Given the description of an element on the screen output the (x, y) to click on. 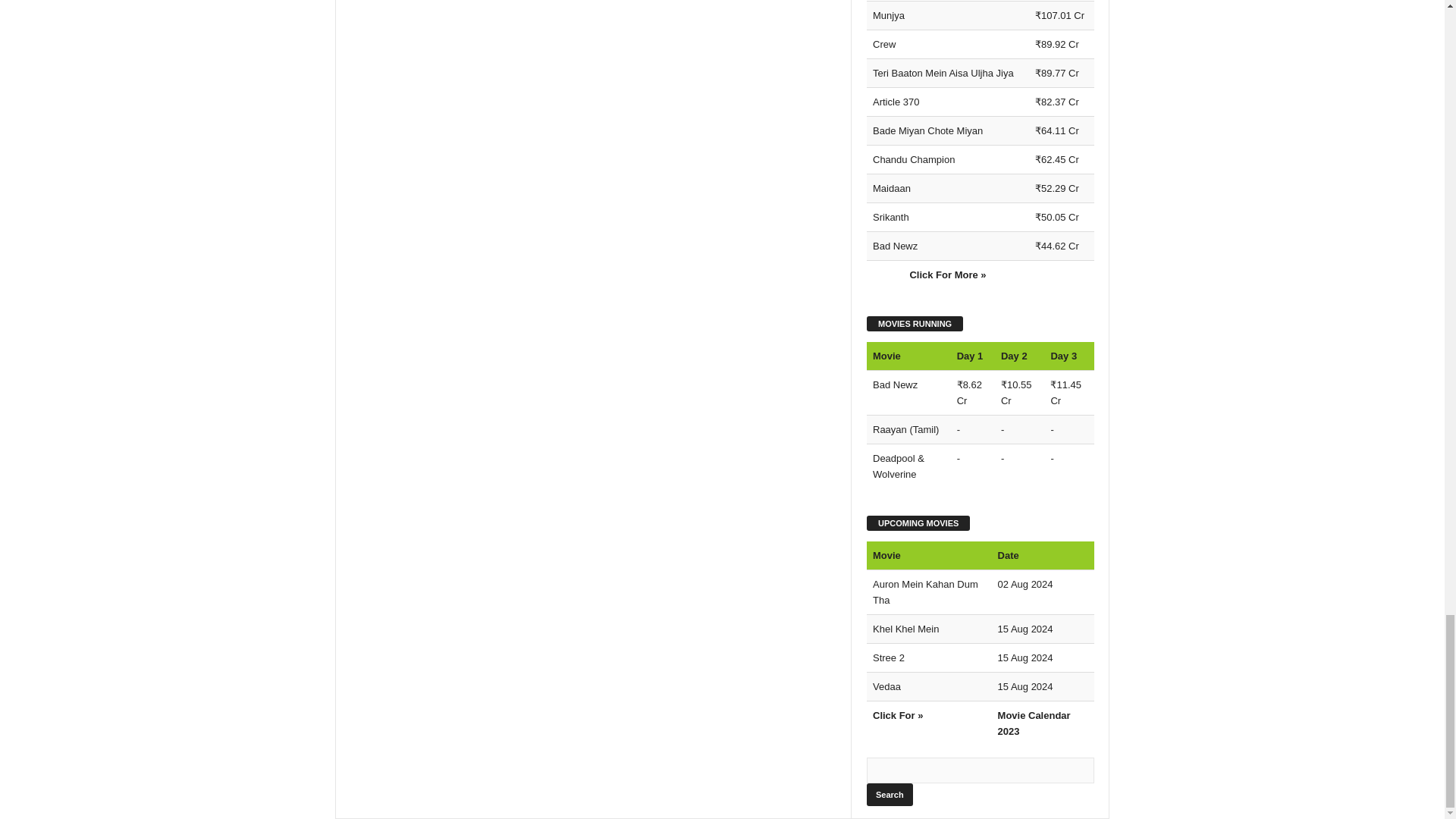
Search (889, 793)
